Given the description of an element on the screen output the (x, y) to click on. 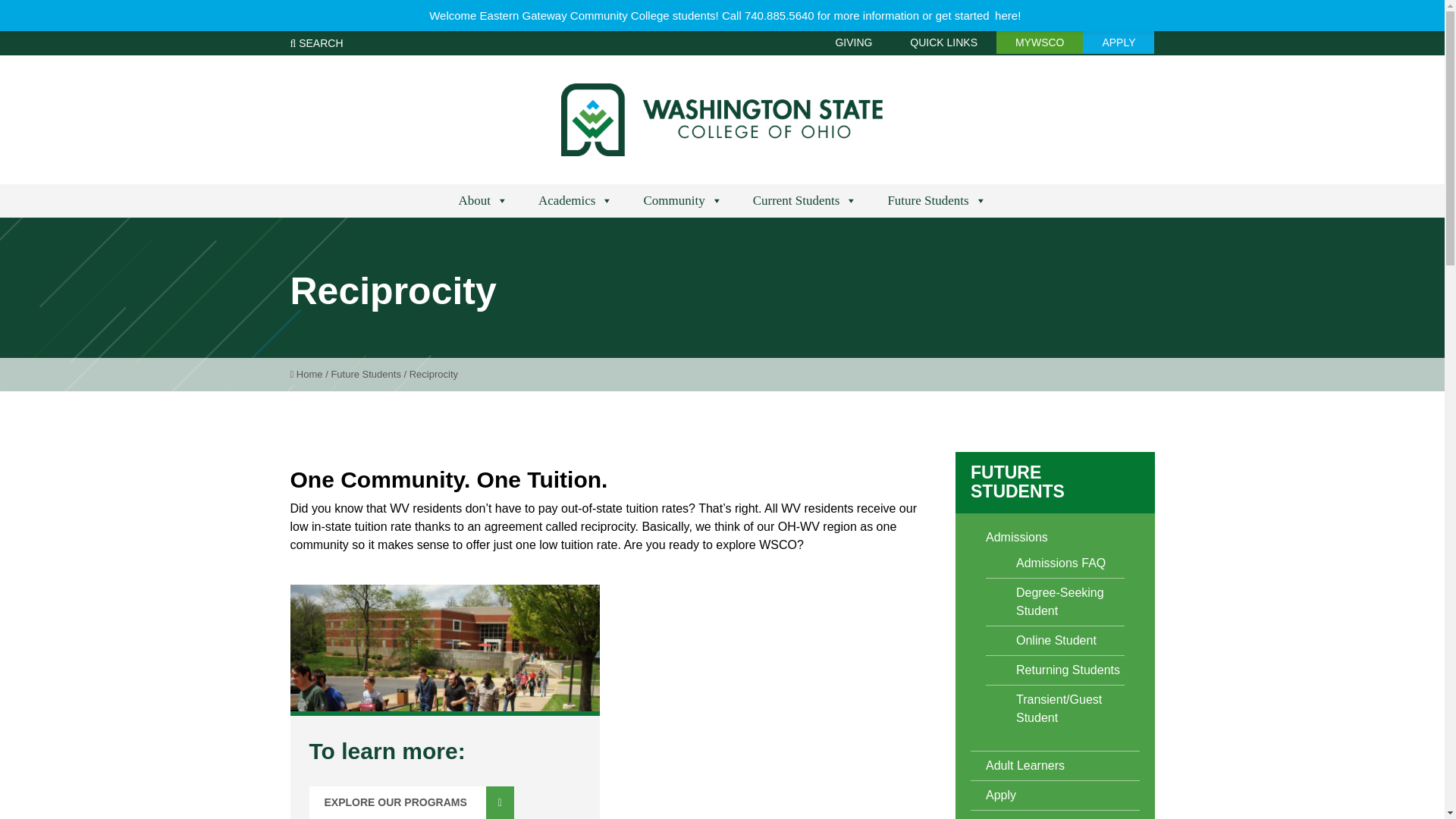
Community (681, 200)
Academics (575, 200)
SEARCH (315, 42)
QUICK LINKS (943, 42)
GIVING (853, 42)
Go to Future Students. (365, 374)
MYWSCO (1039, 42)
APPLY (1118, 42)
Washington State College of Ohio (721, 119)
About (482, 200)
Go to Washington State College of Ohio. (305, 374)
Go to Reciprocity. (433, 374)
